Given the description of an element on the screen output the (x, y) to click on. 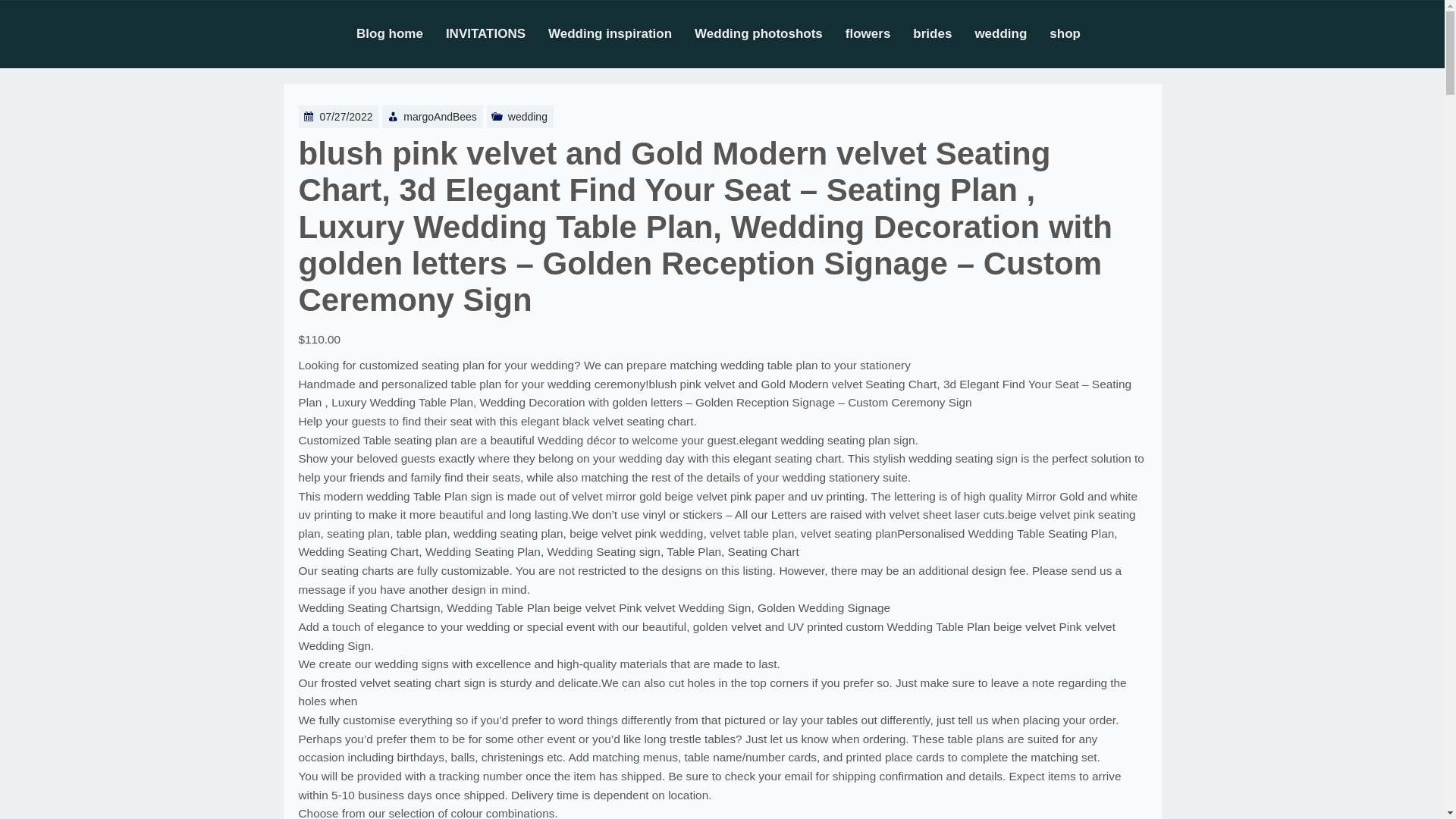
flowers (879, 33)
margoAndBees (440, 116)
Blog home (400, 33)
Wedding inspiration (621, 33)
Wedding photoshots (769, 33)
brides (943, 33)
shop (1076, 33)
INVITATIONS (496, 33)
wedding (527, 116)
wedding (1011, 33)
